Given the description of an element on the screen output the (x, y) to click on. 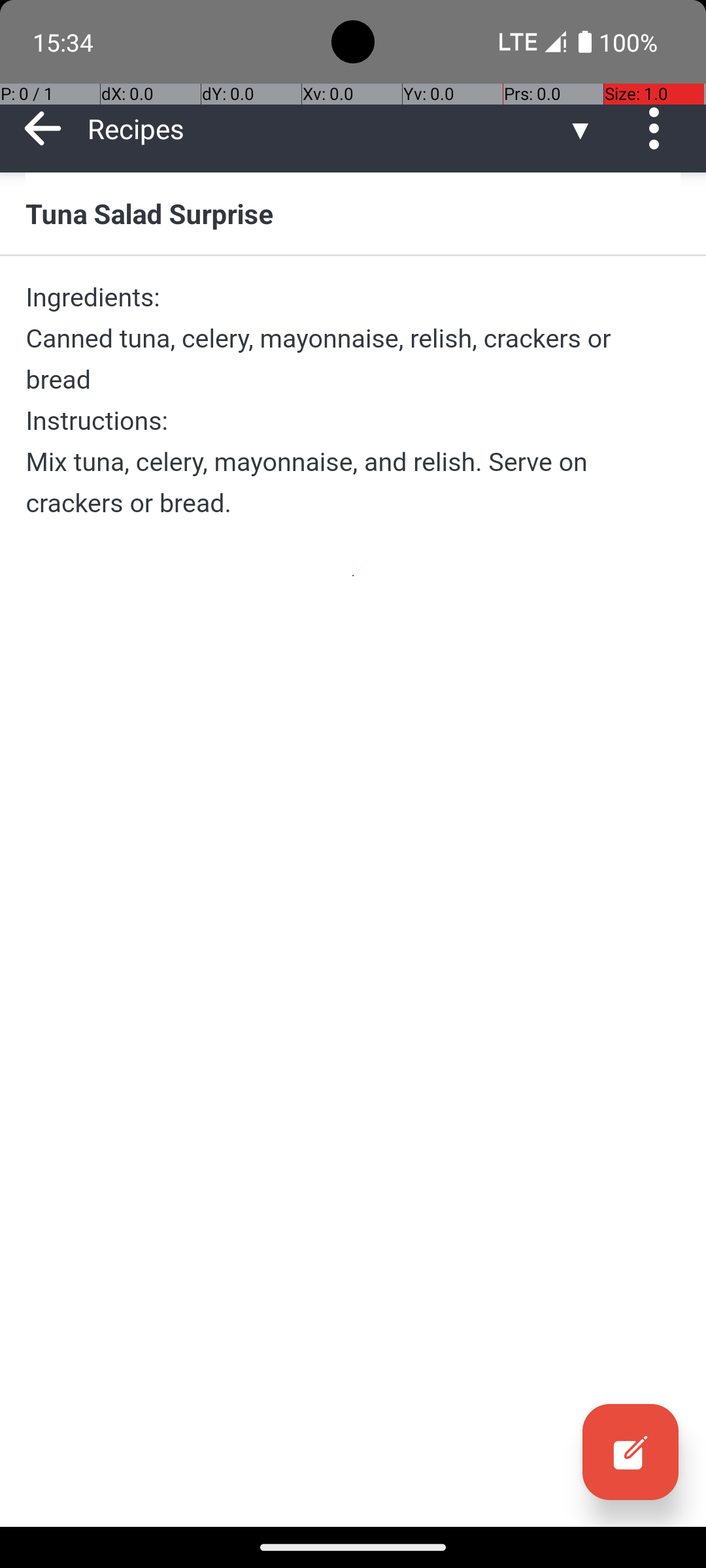
Tuna Salad Surprise Element type: android.widget.EditText (352, 213)
Ingredients:
Canned tuna, celery, mayonnaise, relish, crackers or bread
Instructions:
Mix tuna, celery, mayonnaise, and relish. Serve on crackers or bread. Element type: android.widget.TextView (352, 399)
